Given the description of an element on the screen output the (x, y) to click on. 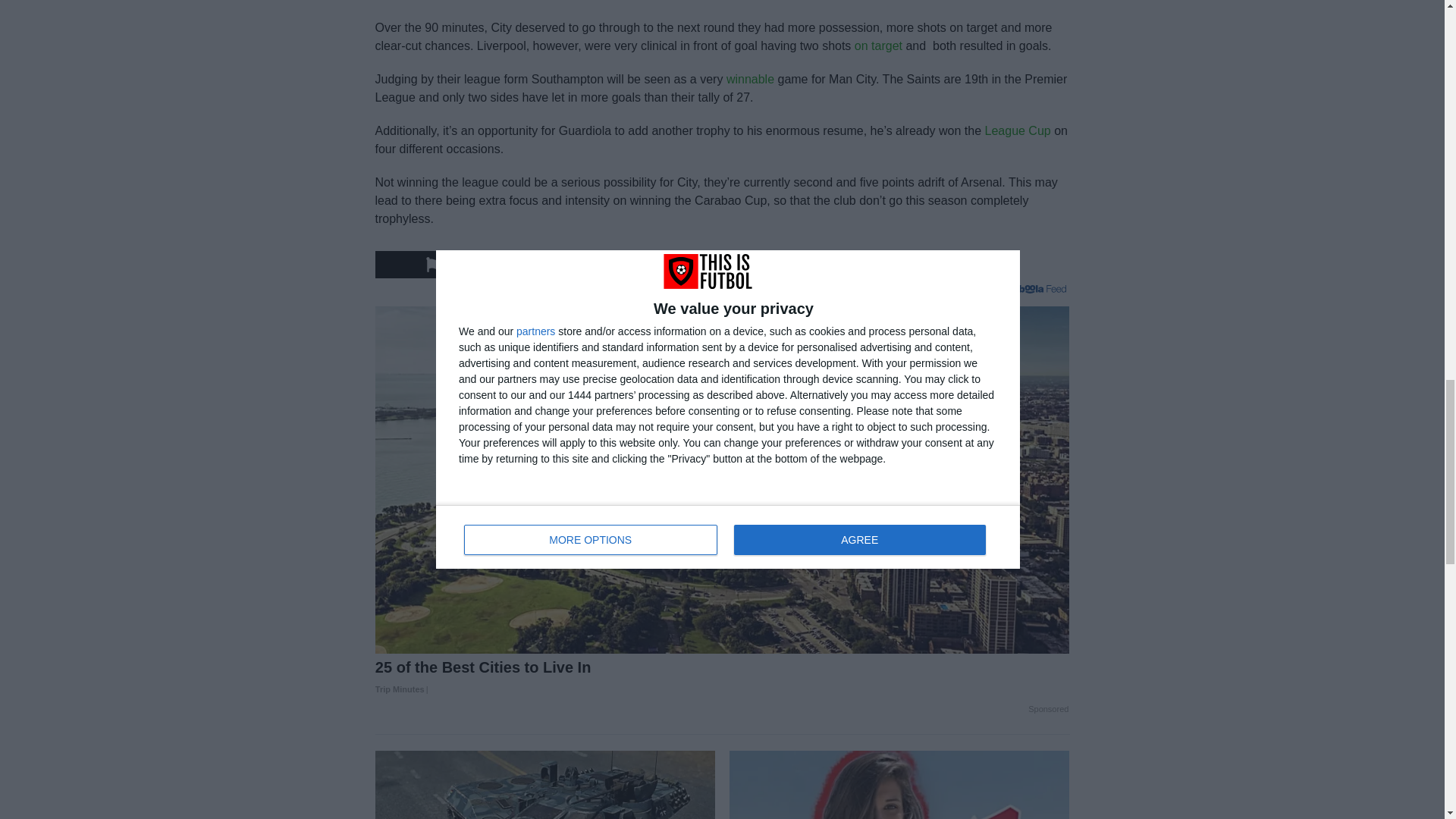
Join new Free to Play WWII MMO War Thunder (544, 785)
League Cup (1018, 130)
25 of the Best Cities to Live In (722, 678)
on target (878, 45)
winnable (750, 78)
